Given the description of an element on the screen output the (x, y) to click on. 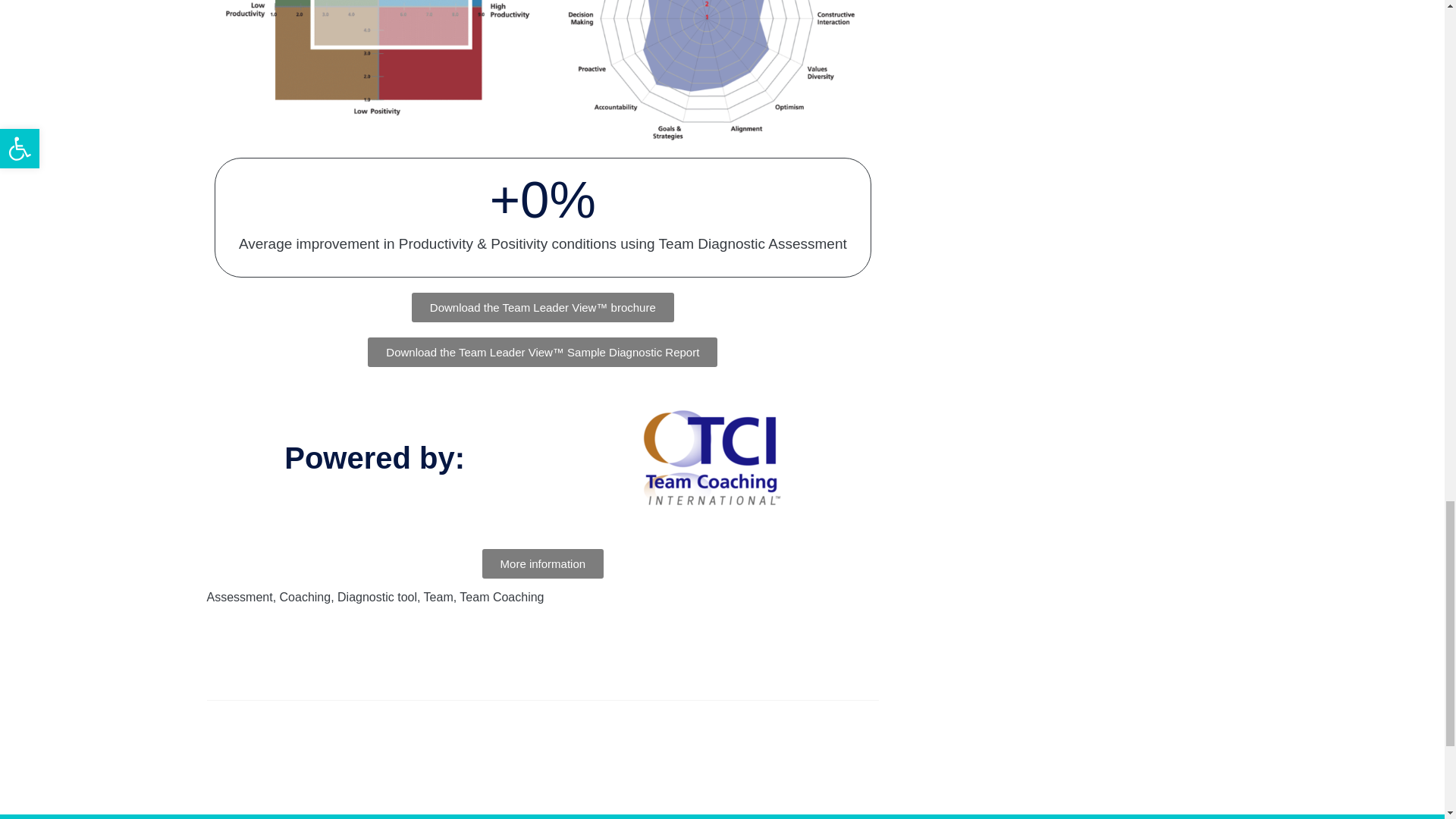
Diagnostic tool (376, 596)
Assessment (239, 596)
Coaching (305, 596)
Team Coaching (501, 596)
More information (542, 563)
Team (437, 596)
